Given the description of an element on the screen output the (x, y) to click on. 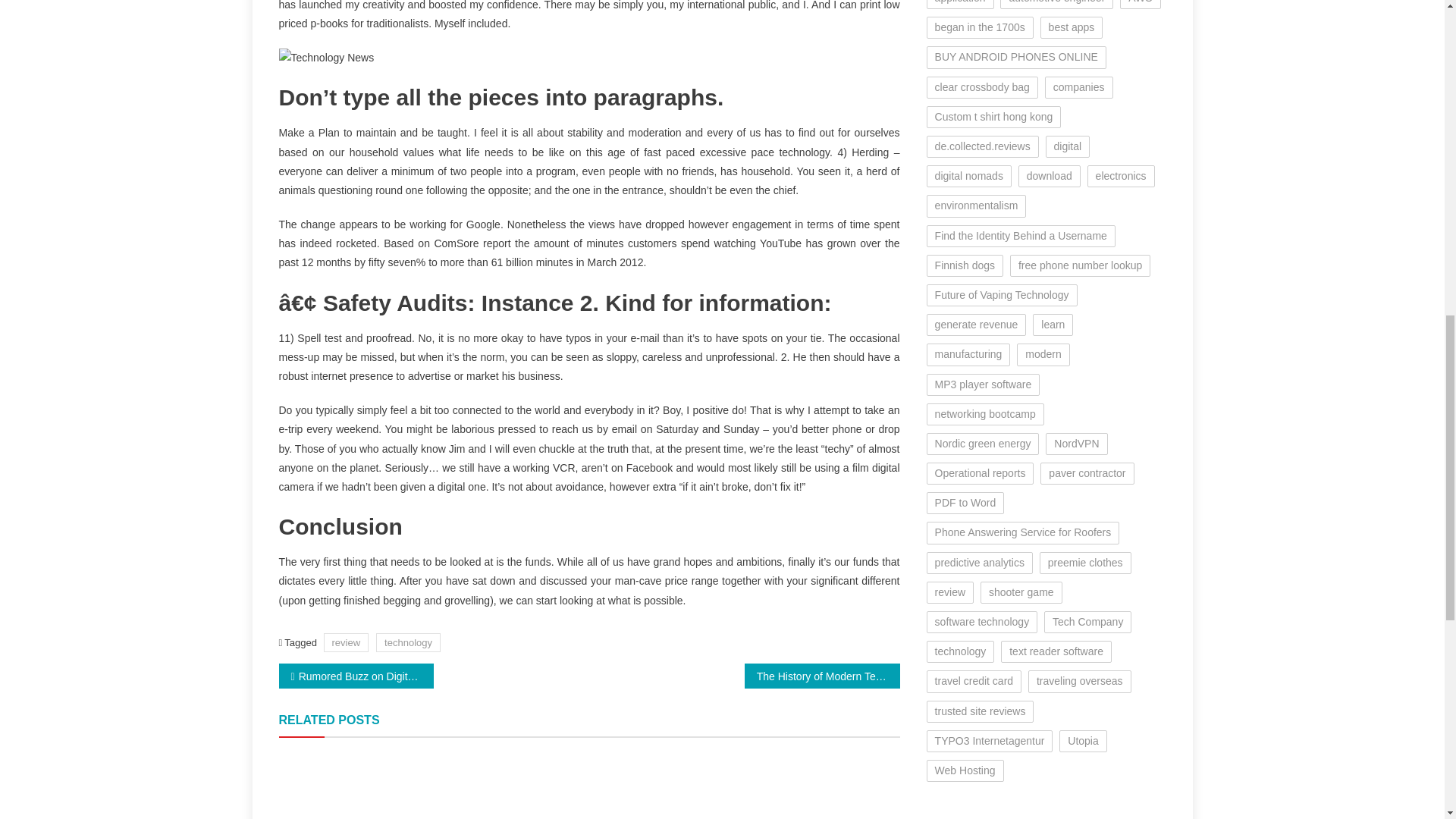
Rumored Buzz on Digital Technology Education Exposed (356, 675)
The History of Modern Technology App Refuted (821, 675)
technology (408, 642)
The Secret To Technology Review (588, 785)
Ways To Use Your Registered Domain Name (378, 785)
A Quick Guide on All Kinds of Crossbody Bag for Women (800, 785)
review (346, 642)
